Given the description of an element on the screen output the (x, y) to click on. 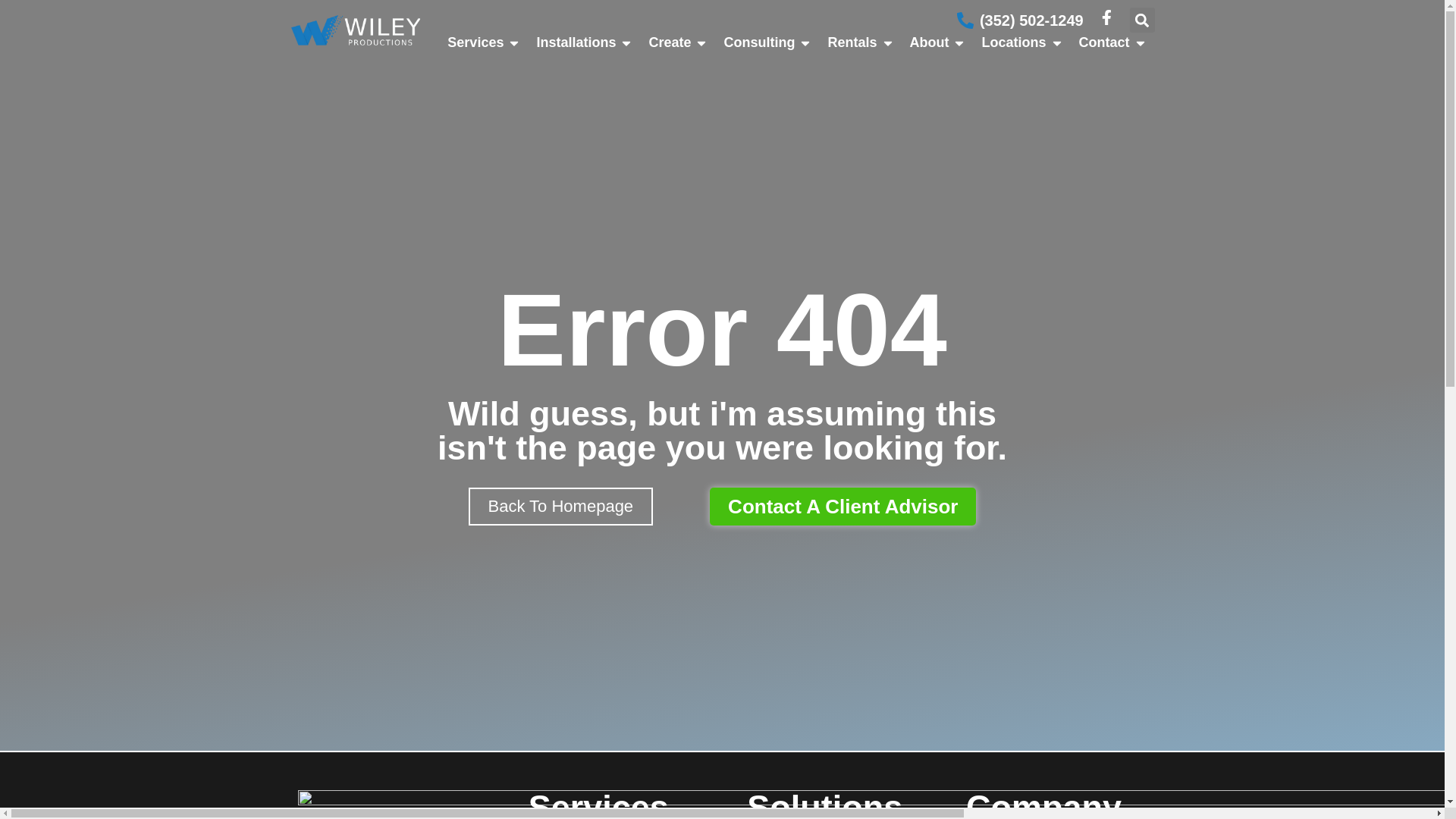
Services (474, 42)
Create (668, 42)
Installations (575, 42)
